Given the description of an element on the screen output the (x, y) to click on. 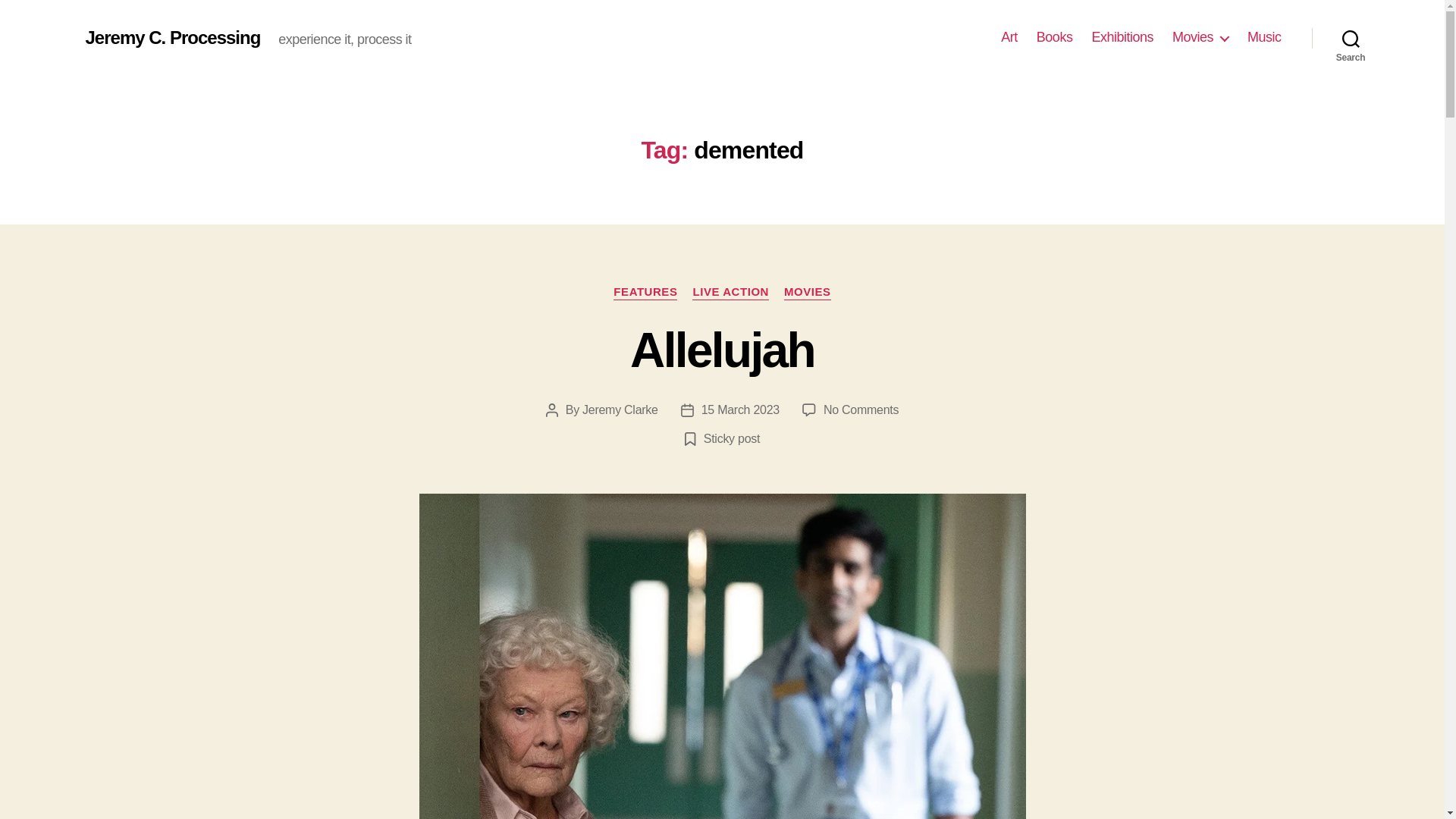
FEATURES (644, 292)
Exhibitions (861, 409)
MOVIES (1121, 37)
Movies (807, 292)
Jeremy C. Processing (1200, 37)
15 March 2023 (172, 37)
Art (739, 409)
Music (1009, 37)
LIVE ACTION (1264, 37)
Allelujah (730, 292)
Books (721, 349)
Jeremy Clarke (1054, 37)
Search (620, 409)
